Given the description of an element on the screen output the (x, y) to click on. 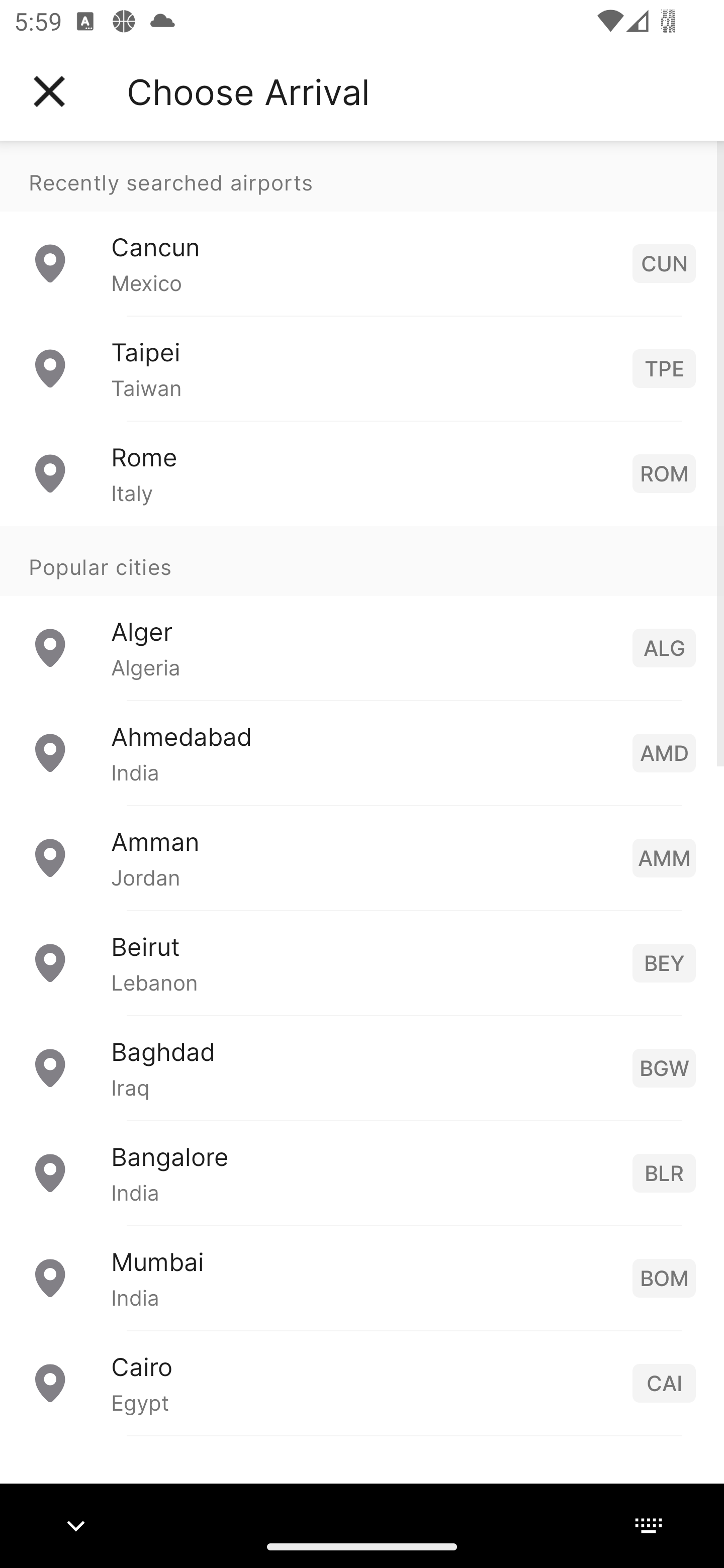
Choose Arrival (247, 91)
Recently searched airports Cancun Mexico CUN (362, 228)
Recently searched airports (362, 176)
Taipei Taiwan TPE (362, 367)
Rome Italy ROM (362, 472)
Popular cities Alger Algeria ALG (362, 612)
Popular cities (362, 560)
Ahmedabad India AMD (362, 751)
Amman Jordan AMM (362, 856)
Beirut Lebanon BEY (362, 961)
Baghdad Iraq BGW (362, 1066)
Bangalore India BLR (362, 1171)
Mumbai India BOM (362, 1276)
Cairo Egypt CAI (362, 1381)
